Given the description of an element on the screen output the (x, y) to click on. 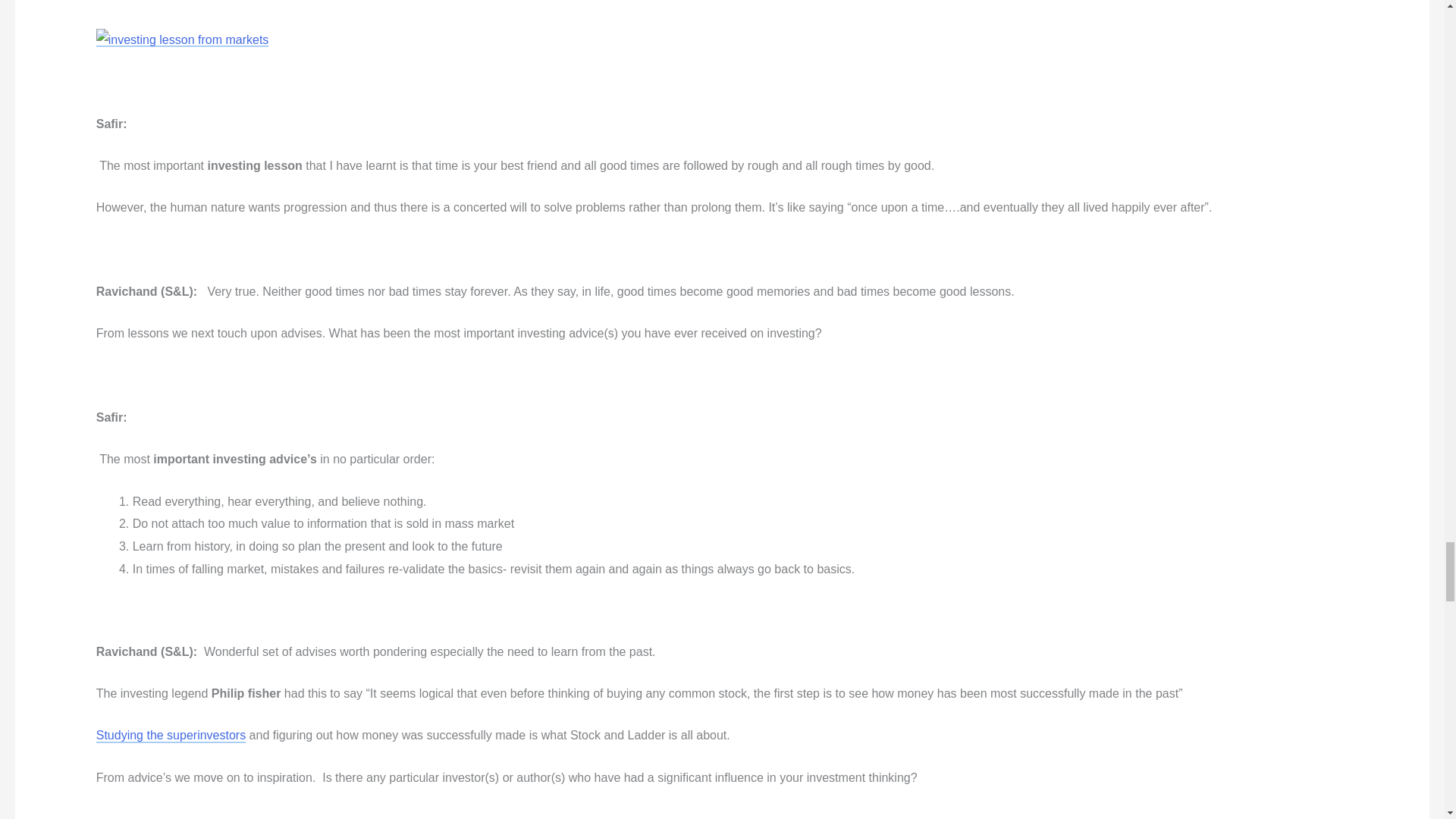
Studying the superinvestors (171, 735)
